Given the description of an element on the screen output the (x, y) to click on. 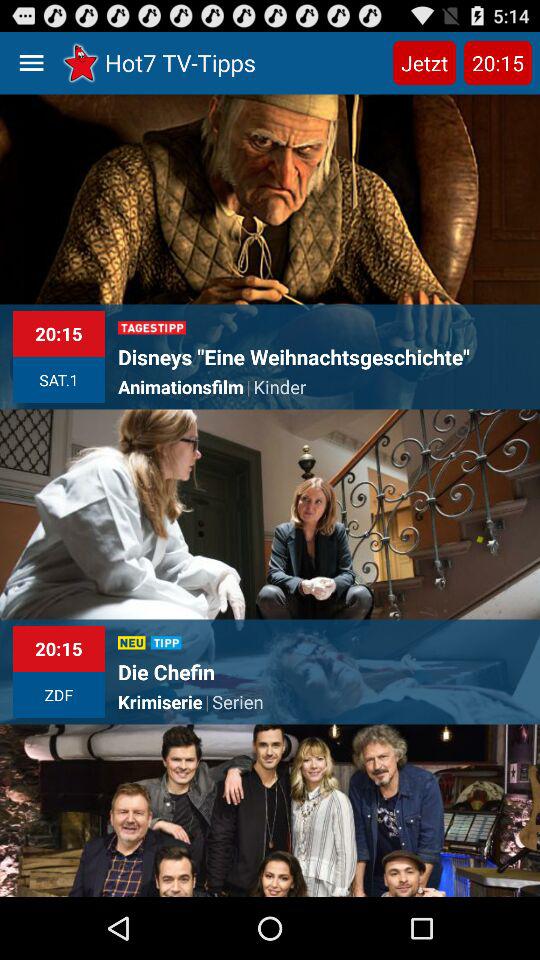
open the icon to the right of the hot7 tv-tipps icon (424, 62)
